Given the description of an element on the screen output the (x, y) to click on. 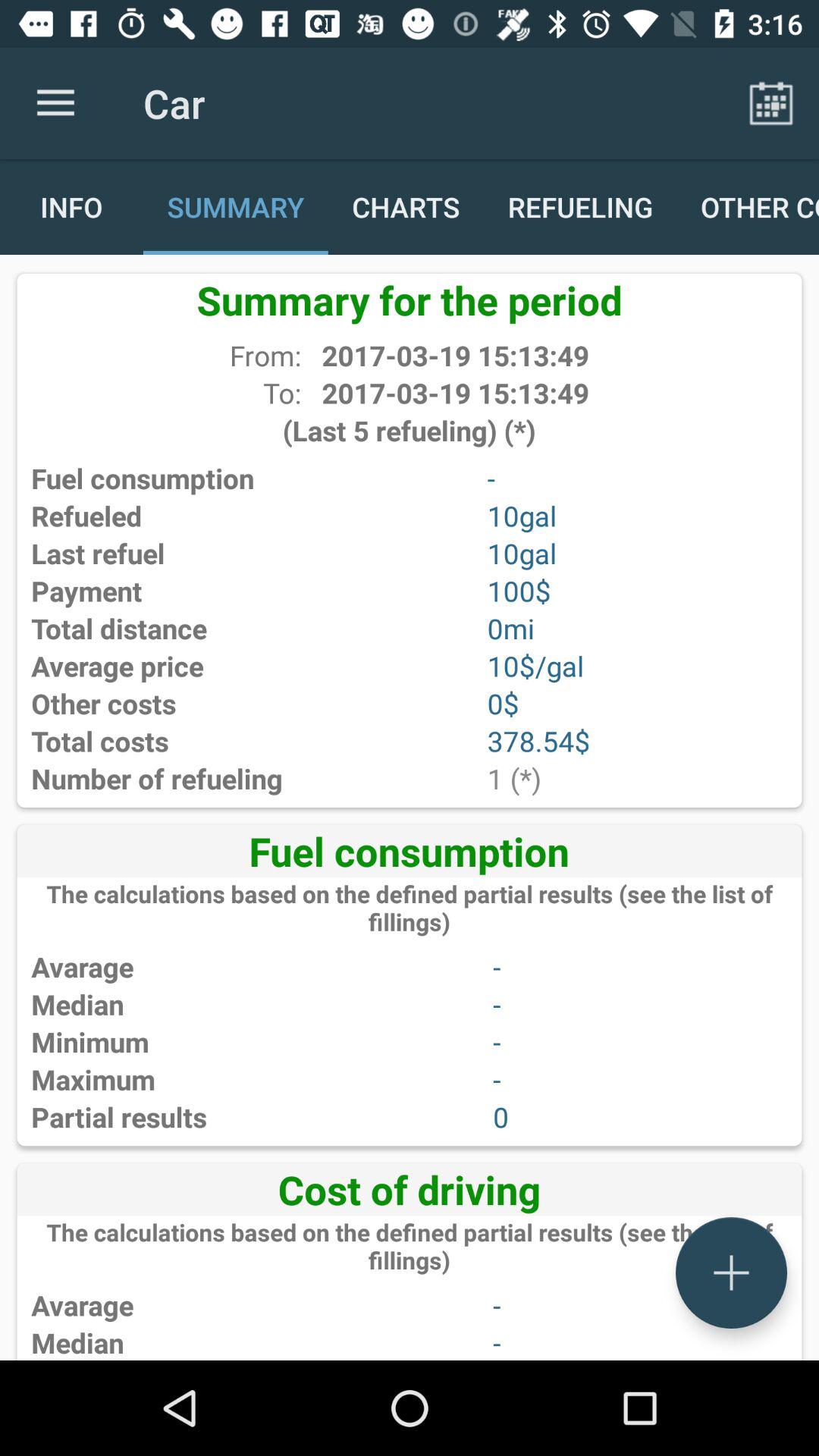
turn on the item next to car app (771, 103)
